Given the description of an element on the screen output the (x, y) to click on. 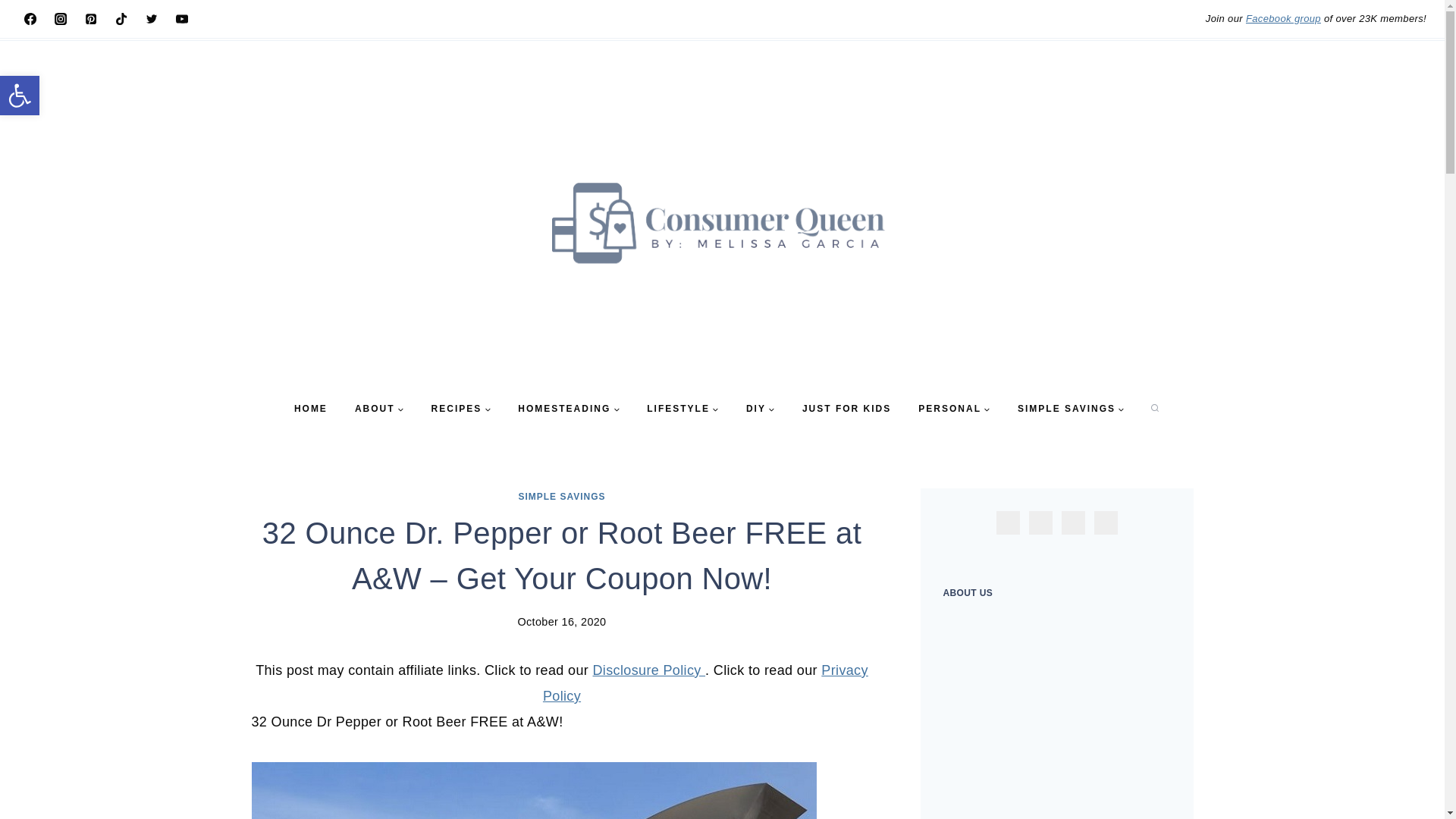
HOMESTEADING (568, 408)
Facebook group (1283, 18)
Accessibility Tools (19, 95)
ABOUT (378, 408)
HOME (310, 408)
RECIPES (461, 408)
